Given the description of an element on the screen output the (x, y) to click on. 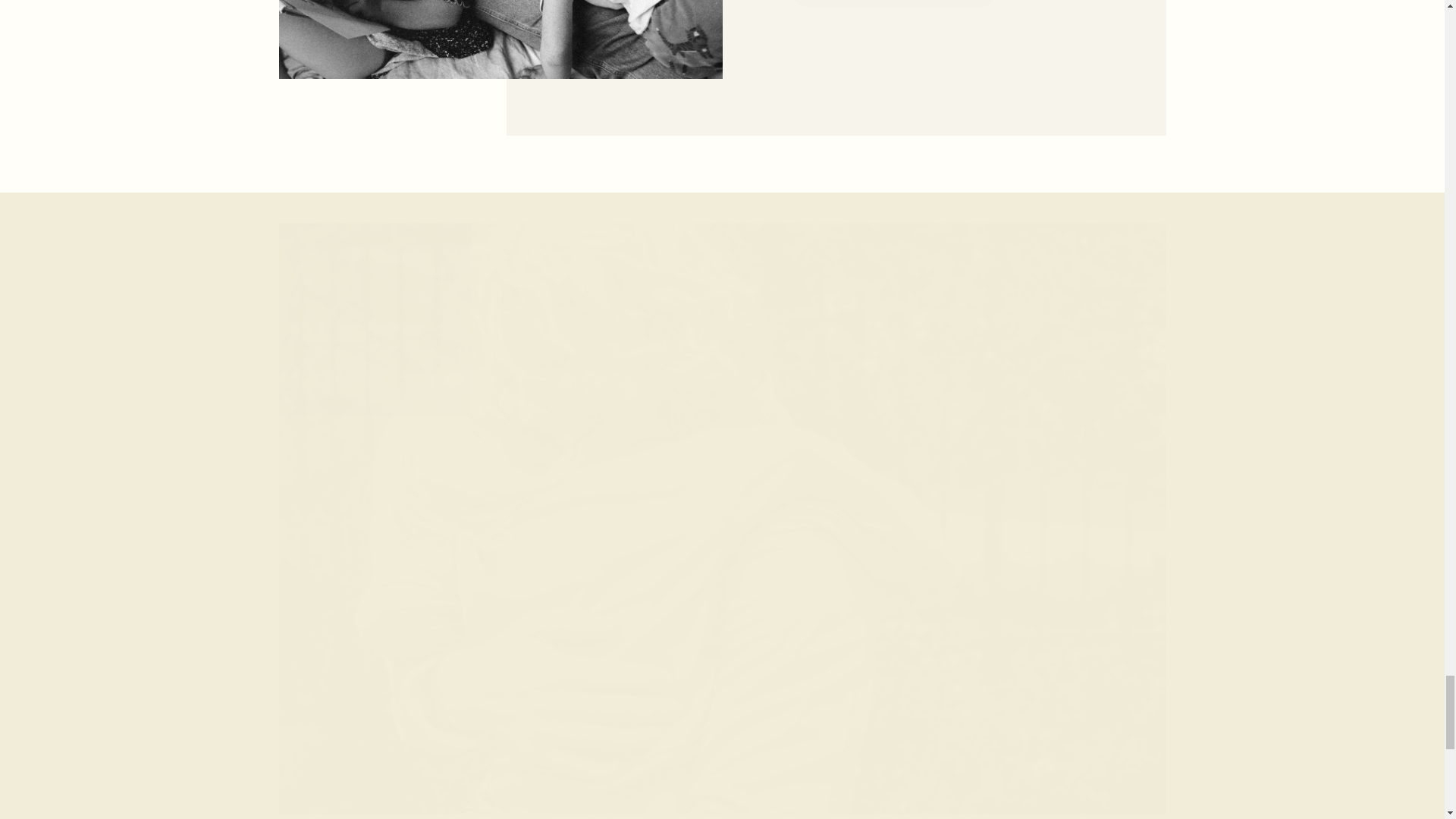
CELEBRATE YOUR PEOPLE (893, 3)
